Given the description of an element on the screen output the (x, y) to click on. 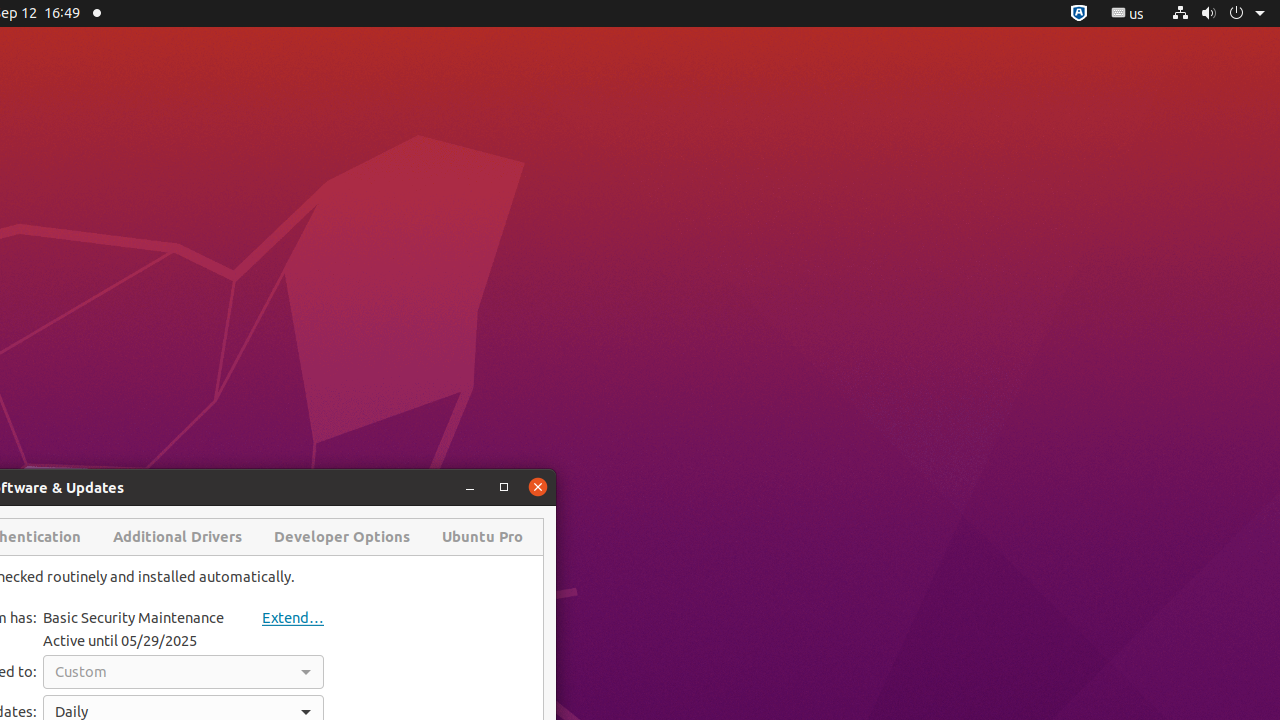
Ubuntu Pro Element type: page-tab (482, 537)
Developer Options Element type: page-tab (342, 537)
Extend… Element type: label (277, 617)
Basic Security Maintenance Element type: label (133, 617)
